Given the description of an element on the screen output the (x, y) to click on. 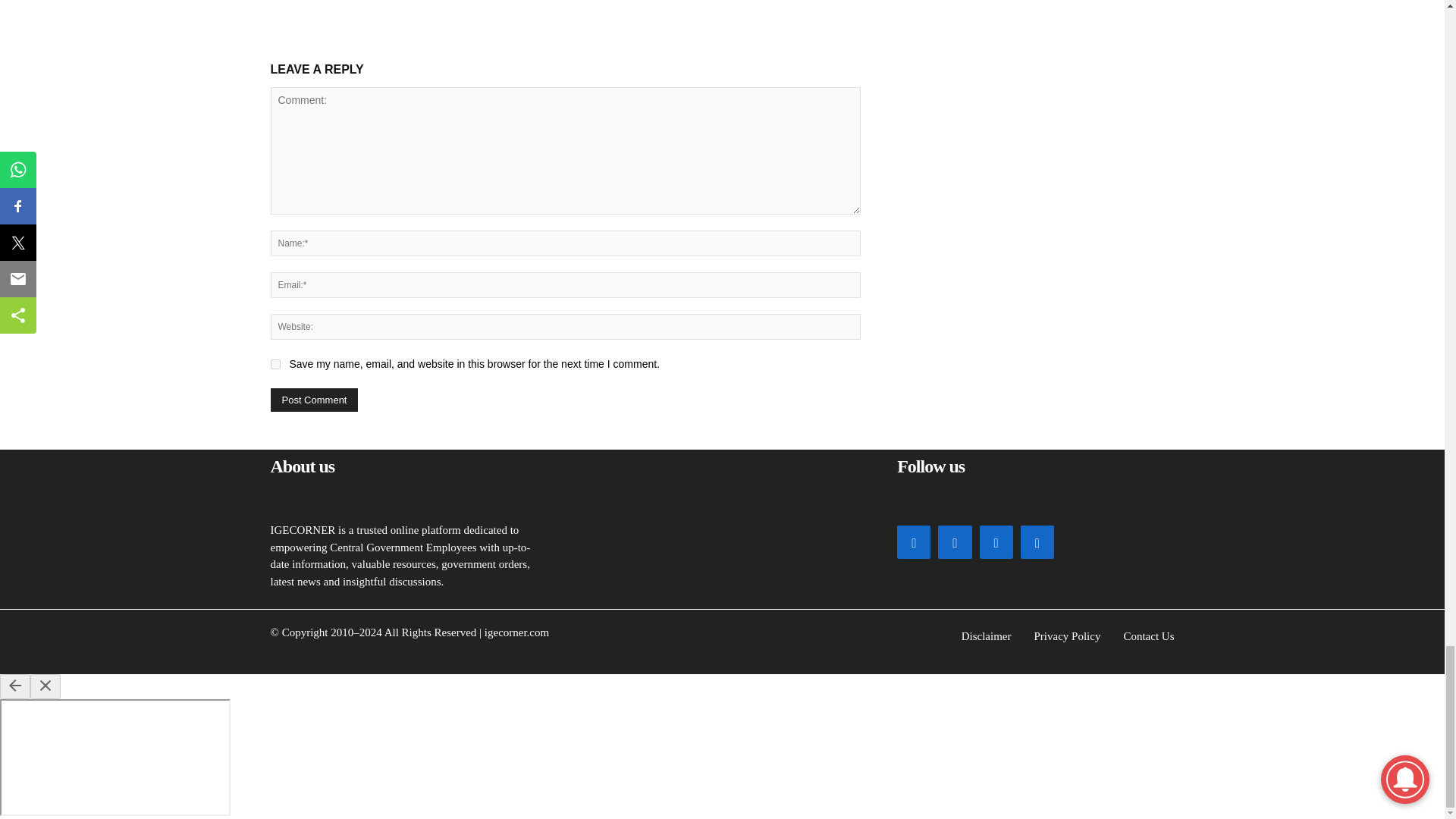
yes (274, 364)
Post Comment (313, 399)
